Given the description of an element on the screen output the (x, y) to click on. 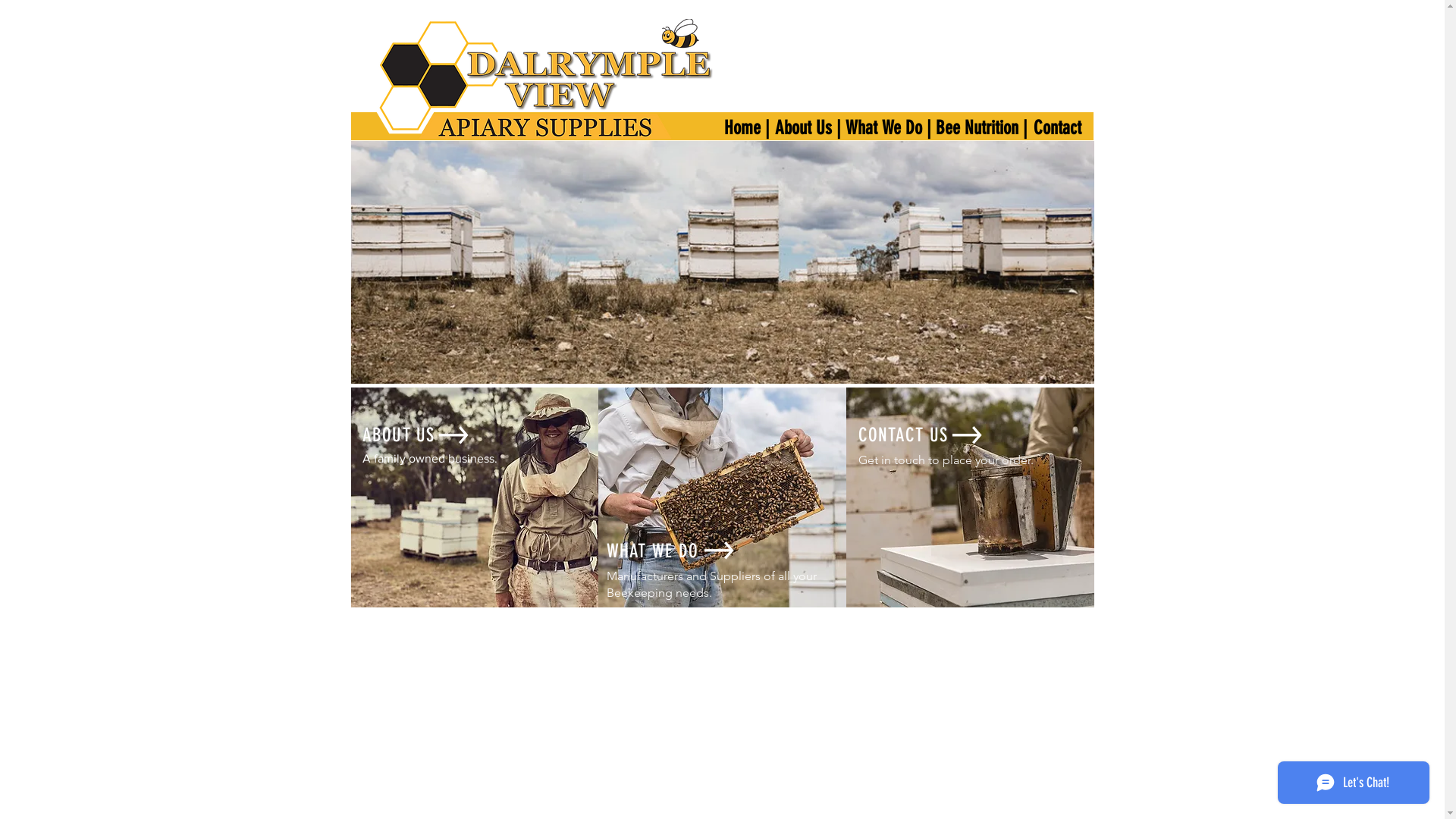
CONTACT US Element type: text (903, 434)
Embedded Content Element type: hover (696, 310)
Contact Element type: text (1057, 127)
What We Do | Element type: text (887, 127)
WHAT WE DO Element type: text (652, 550)
ABOUT US Element type: text (398, 434)
Bee Nutrition | Element type: text (981, 127)
About Us | Element type: text (807, 127)
Home | Element type: text (746, 127)
